Given the description of an element on the screen output the (x, y) to click on. 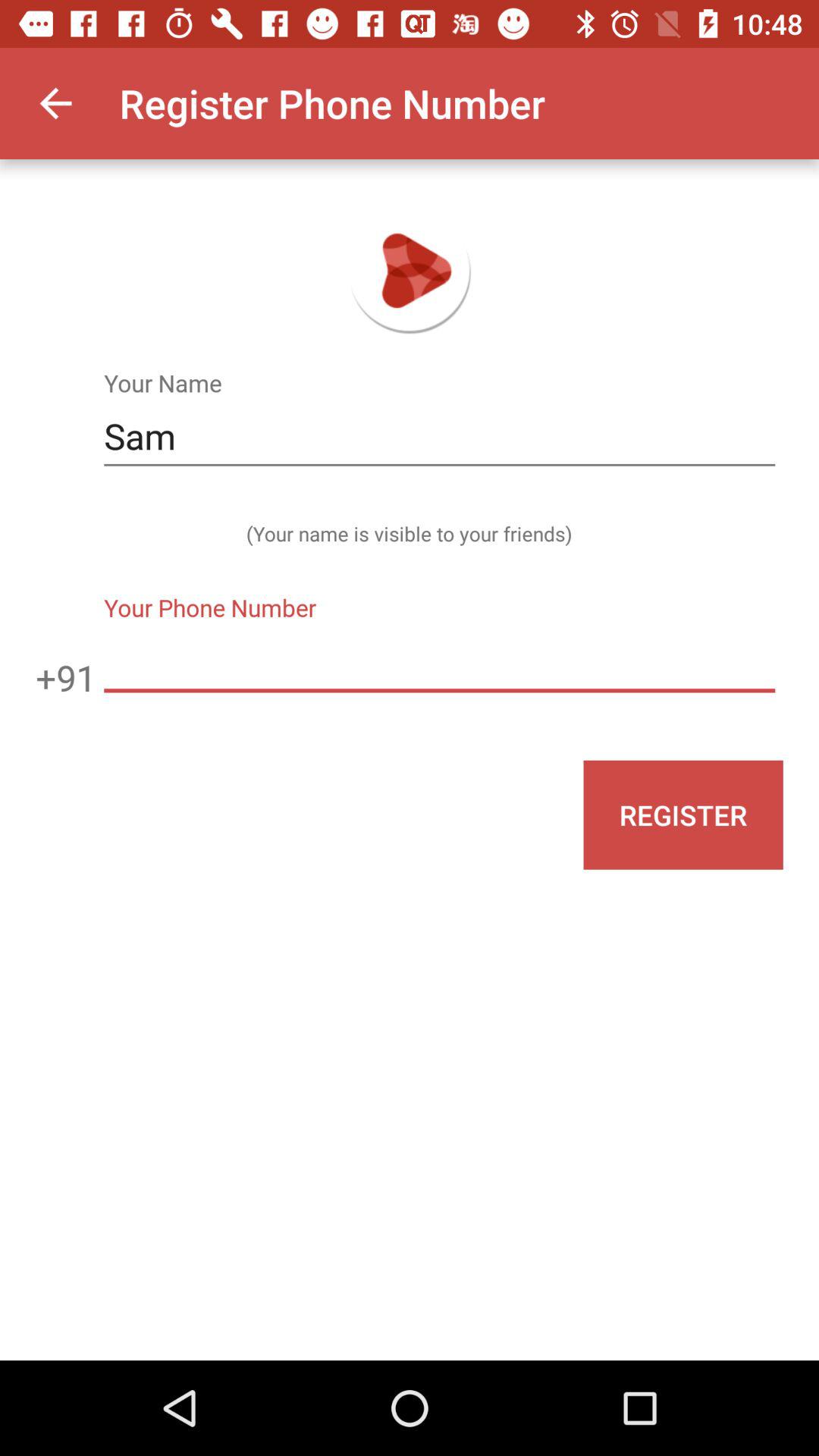
click the icon next to the +91 icon (439, 661)
